Given the description of an element on the screen output the (x, y) to click on. 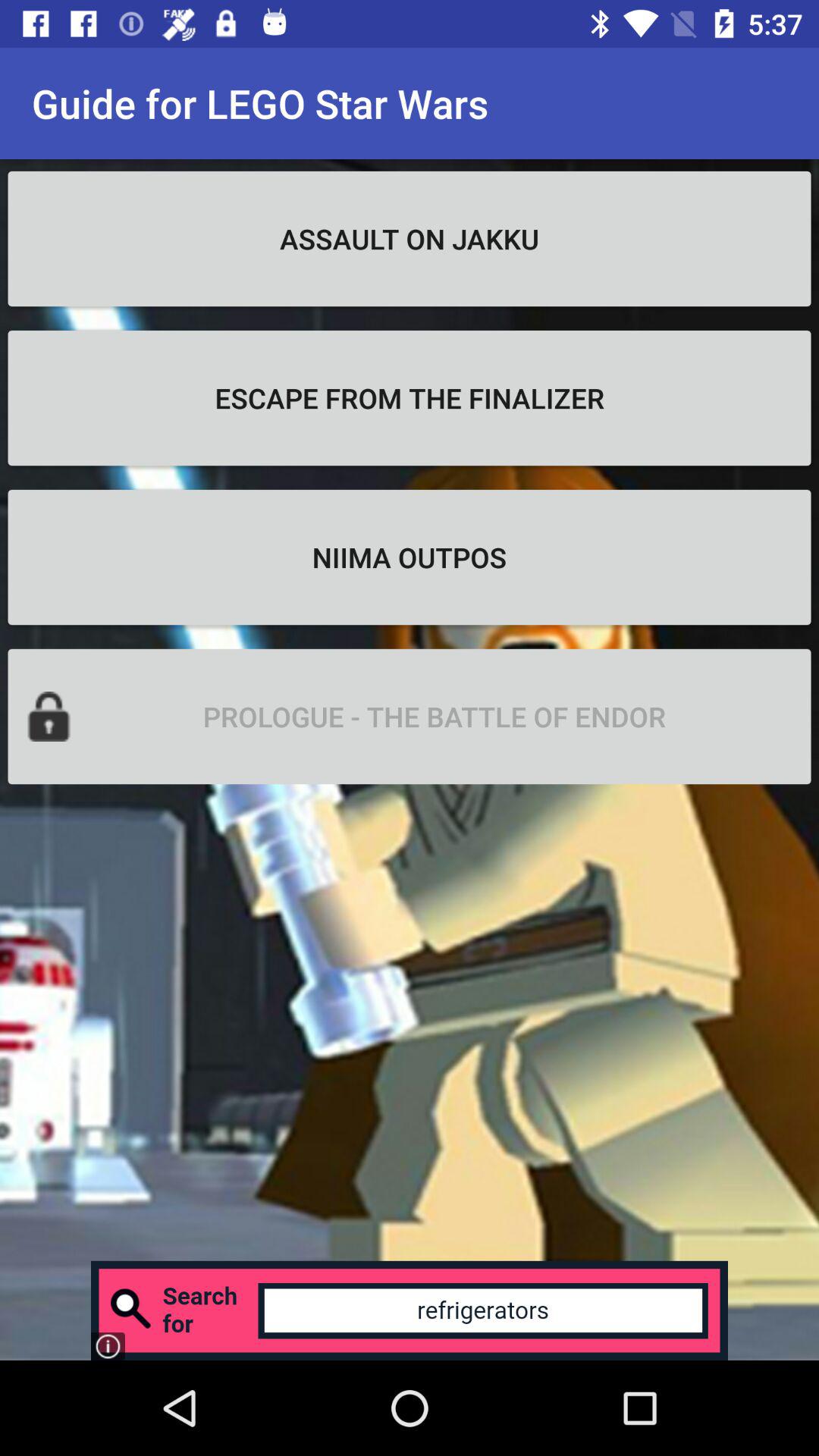
open advertisement (409, 1310)
